Given the description of an element on the screen output the (x, y) to click on. 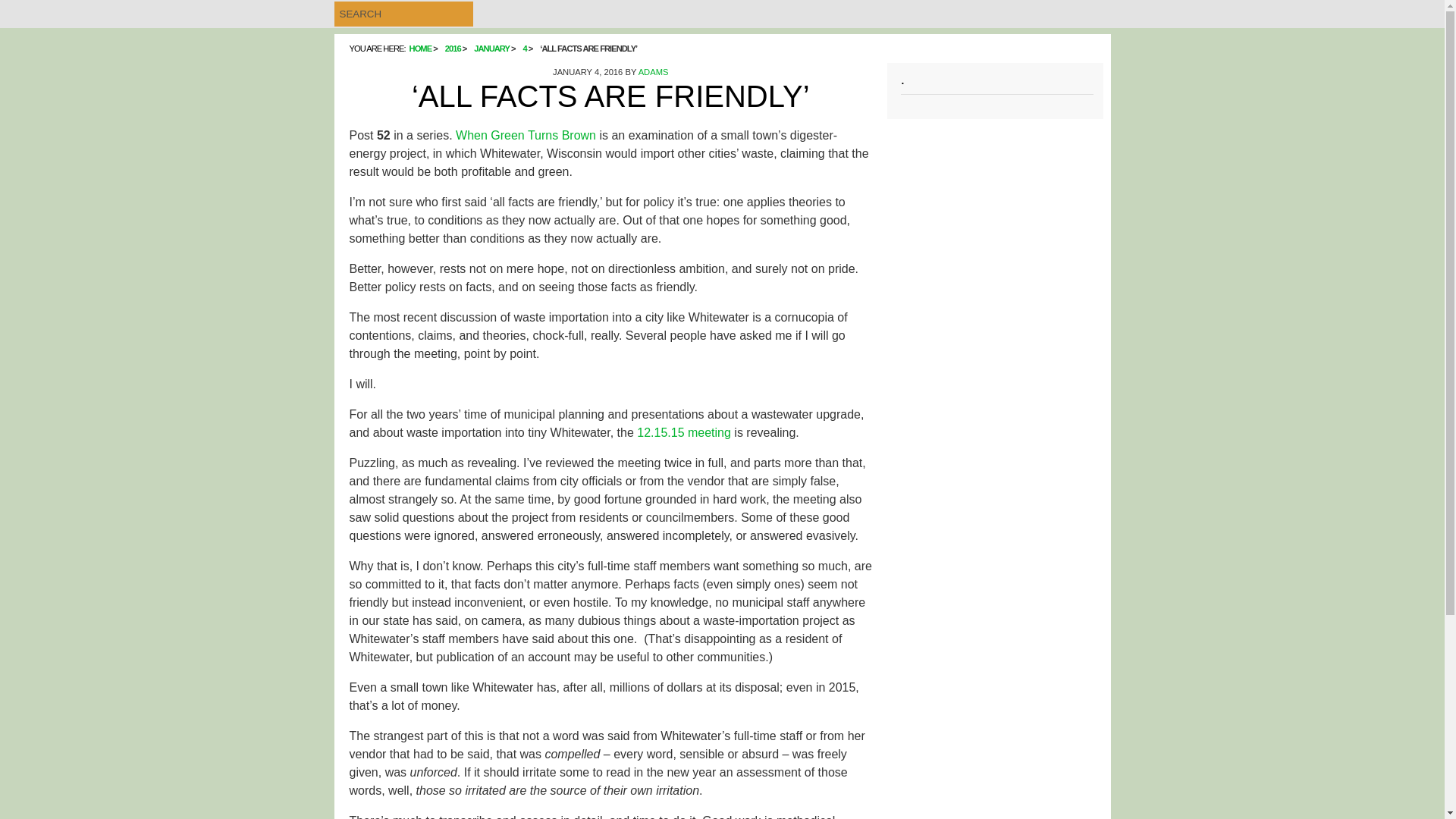
12.15.15 meeting (683, 431)
JANUARY (491, 48)
ADAMS (653, 71)
When Green Turns Brown (525, 134)
2016 (453, 48)
HOME (420, 48)
Posts by Adams (653, 71)
Monday, Jan 4, 2016, 8:00 am (588, 71)
